Given the description of an element on the screen output the (x, y) to click on. 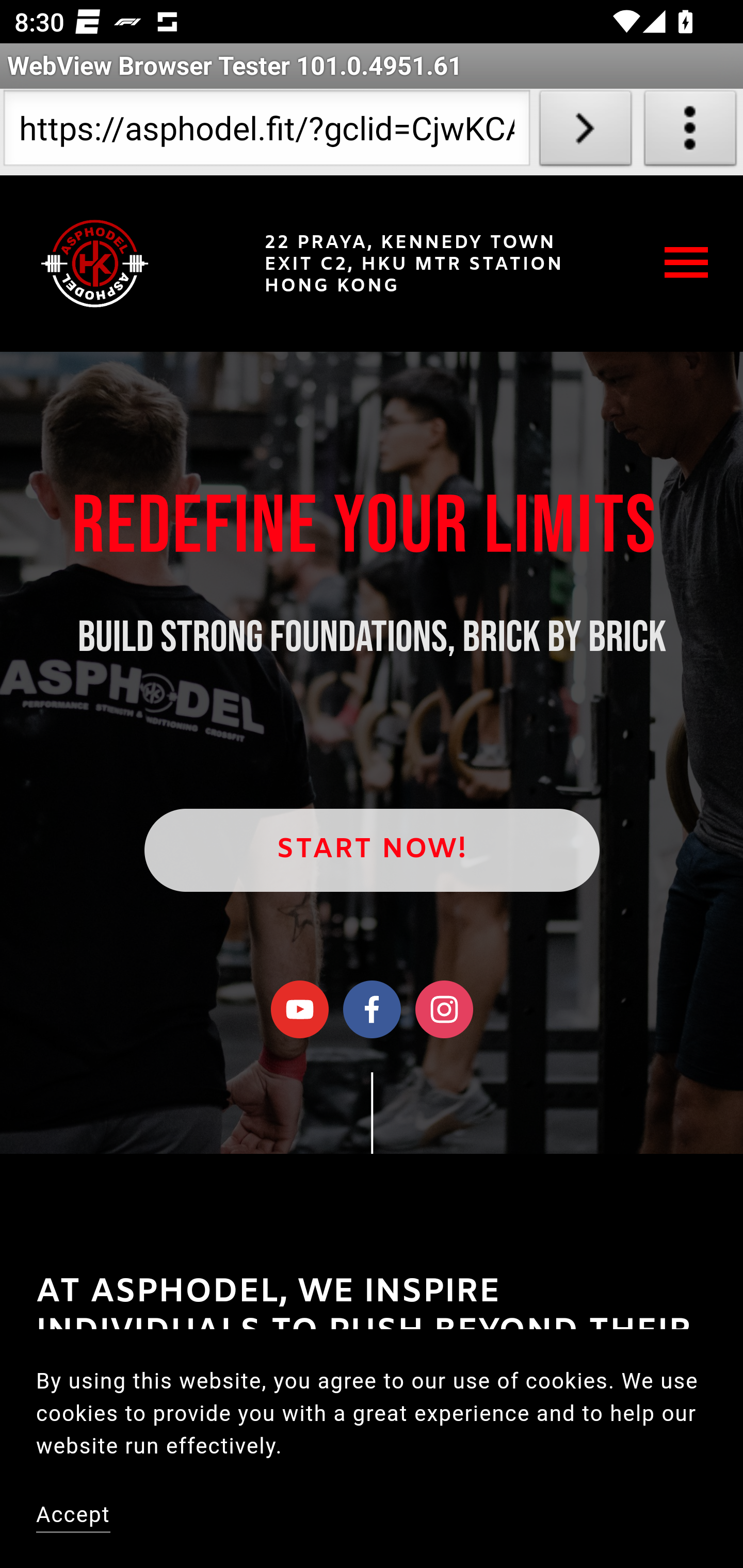
Load URL (585, 132)
About WebView (690, 132)
Asphodel Fitness (95, 263)
Open navigation menu (686, 262)
START NOW! (371, 850)
YouTube (300, 1008)
Facebook (372, 1008)
Instagram (444, 1008)
Accept (74, 1516)
